Given the description of an element on the screen output the (x, y) to click on. 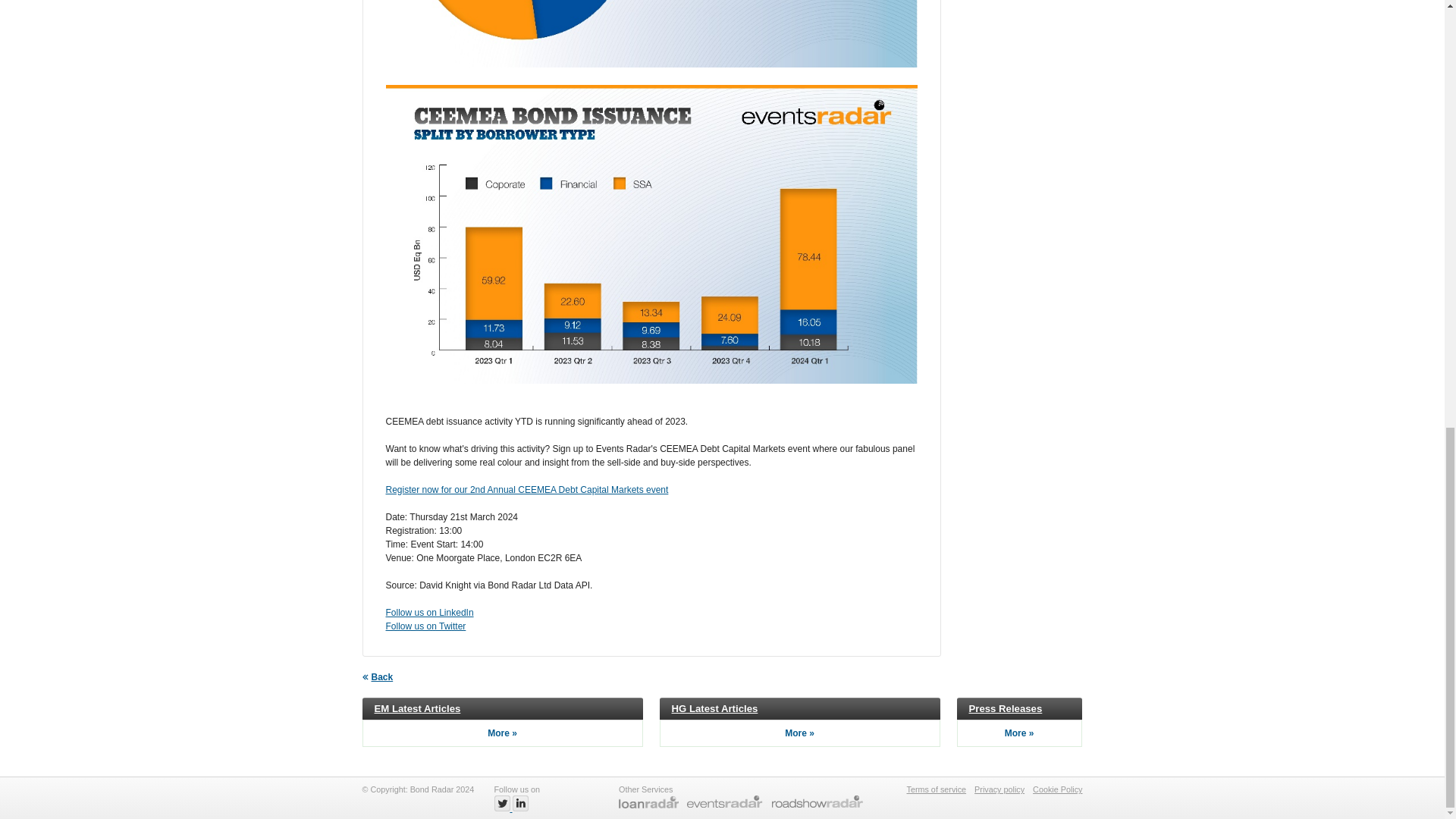
Press Releases (1005, 708)
Follow us on Twitter (425, 625)
Back (377, 676)
EM Latest Articles (417, 708)
Follow us on LinkedIn (429, 612)
HG Latest Articles (714, 708)
